Given the description of an element on the screen output the (x, y) to click on. 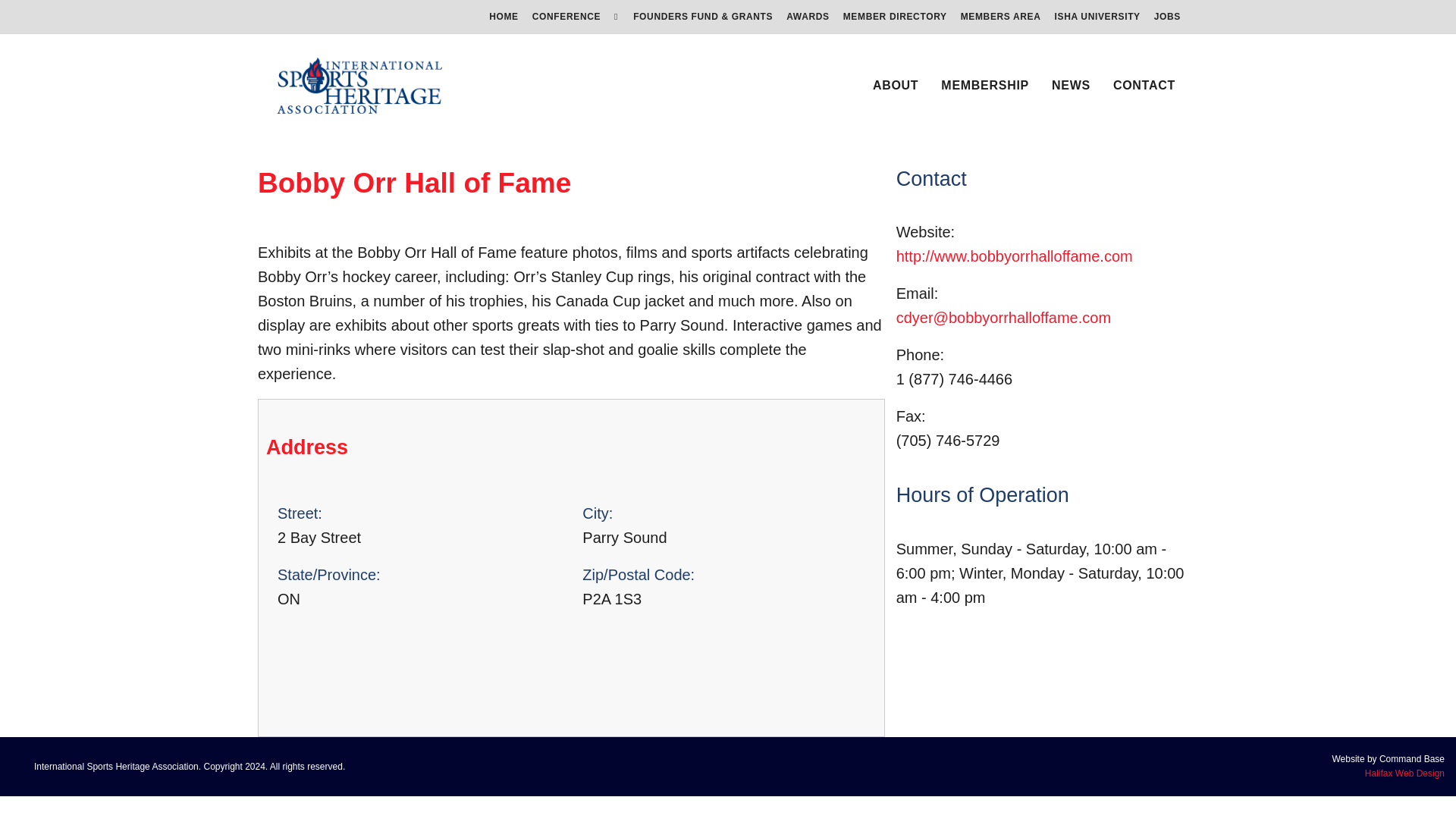
MEMBERS AREA (1000, 17)
CONTACT (1143, 85)
AWARDS (807, 17)
Command Base Creative (1404, 773)
JOBS (1167, 17)
NEWS (1070, 85)
MEMBER DIRECTORY (895, 17)
Halifax Web Design (1404, 773)
MEMBERSHIP (984, 85)
ABOUT (895, 85)
